Given the description of an element on the screen output the (x, y) to click on. 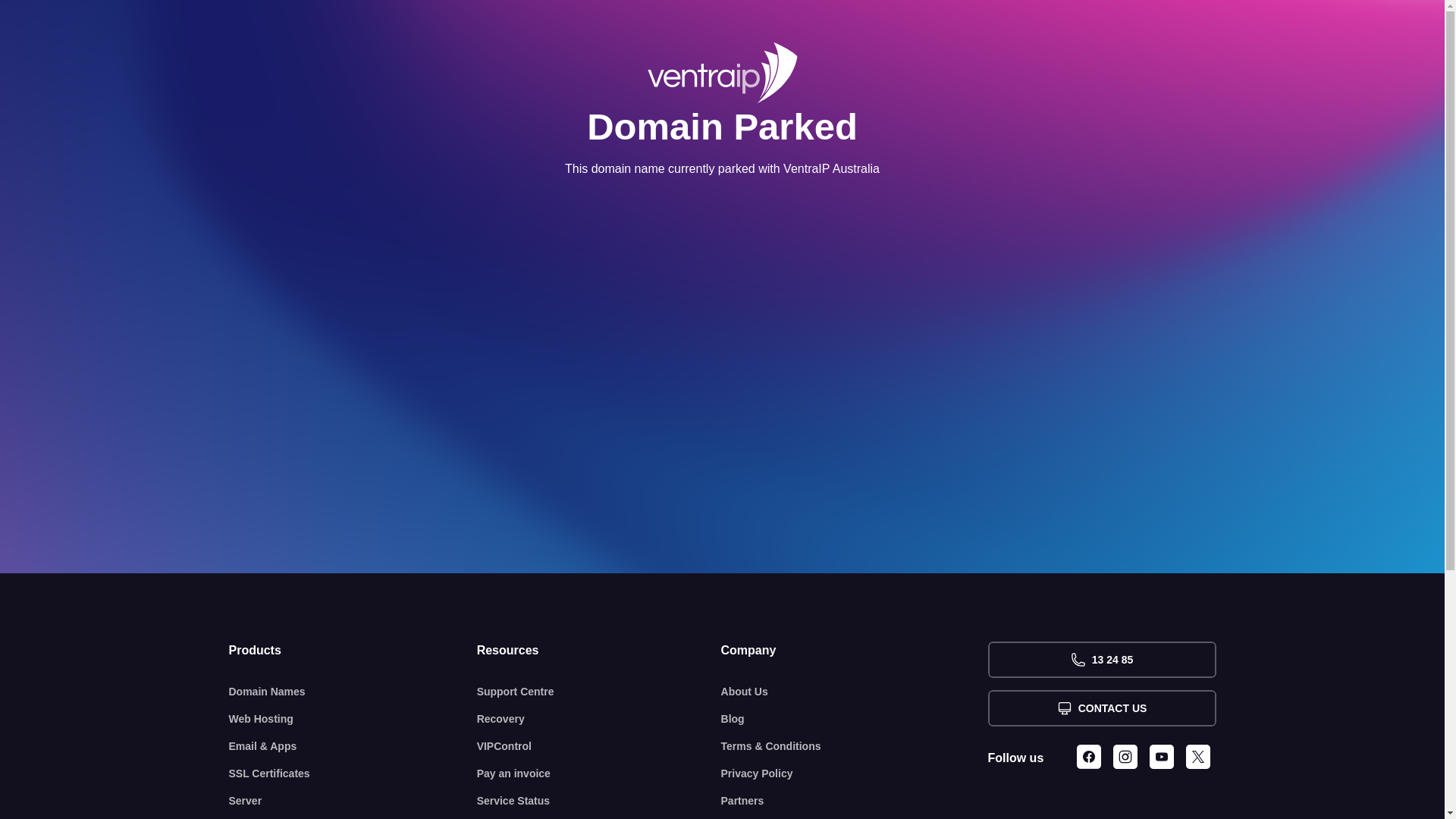
VIPControl Element type: text (598, 745)
Pay an invoice Element type: text (598, 773)
Domain Names Element type: text (352, 691)
Service Status Element type: text (598, 800)
Privacy Policy Element type: text (854, 773)
Web Hosting Element type: text (352, 718)
Terms & Conditions Element type: text (854, 745)
Server Element type: text (352, 800)
SSL Certificates Element type: text (352, 773)
About Us Element type: text (854, 691)
CONTACT US Element type: text (1101, 708)
Blog Element type: text (854, 718)
Partners Element type: text (854, 800)
Recovery Element type: text (598, 718)
13 24 85 Element type: text (1101, 659)
Support Centre Element type: text (598, 691)
Email & Apps Element type: text (352, 745)
